Given the description of an element on the screen output the (x, y) to click on. 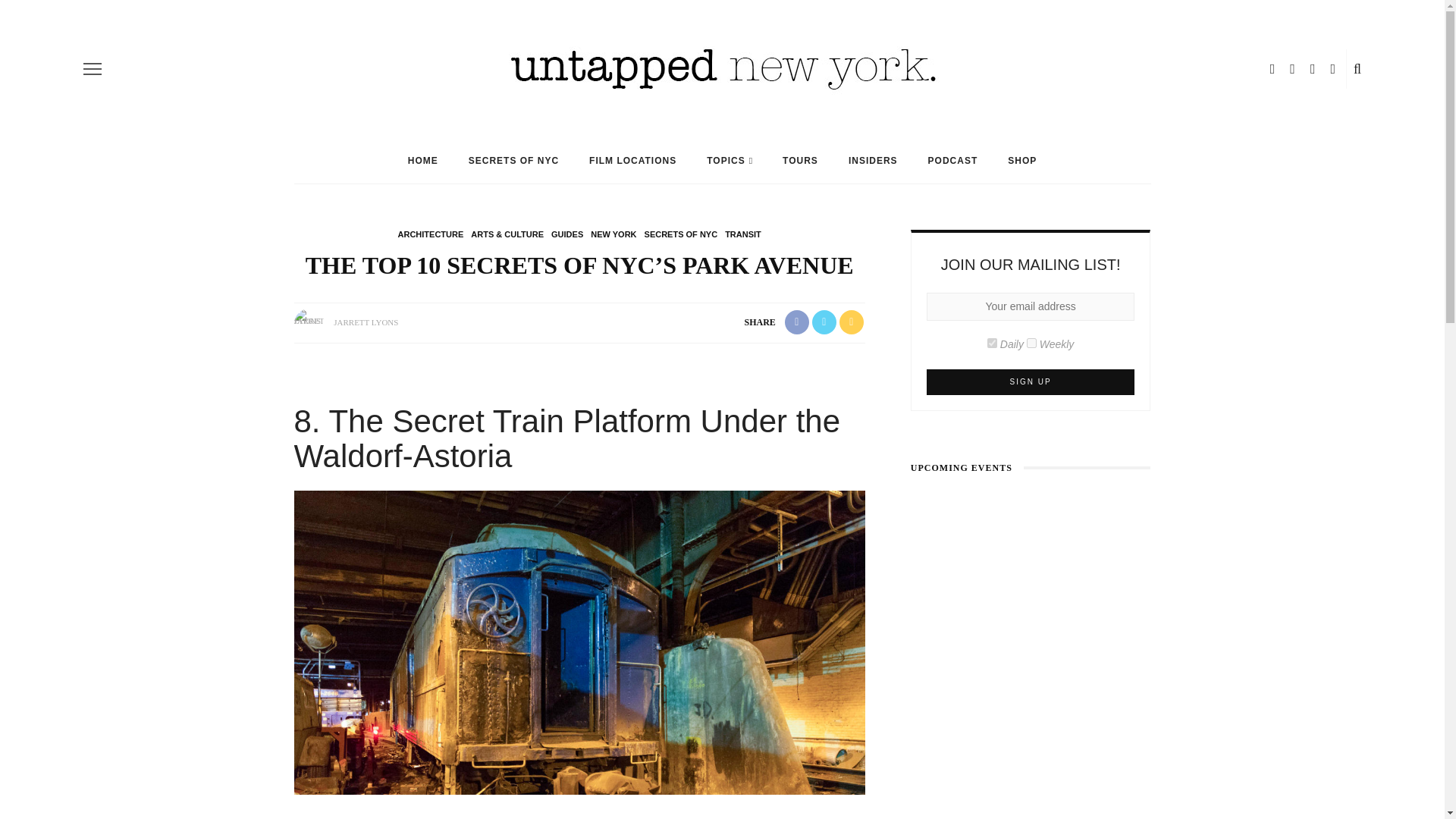
e99a09560c (992, 343)
7cff6a70fd (1031, 343)
Sign up (1030, 381)
off canvas button (91, 68)
